Given the description of an element on the screen output the (x, y) to click on. 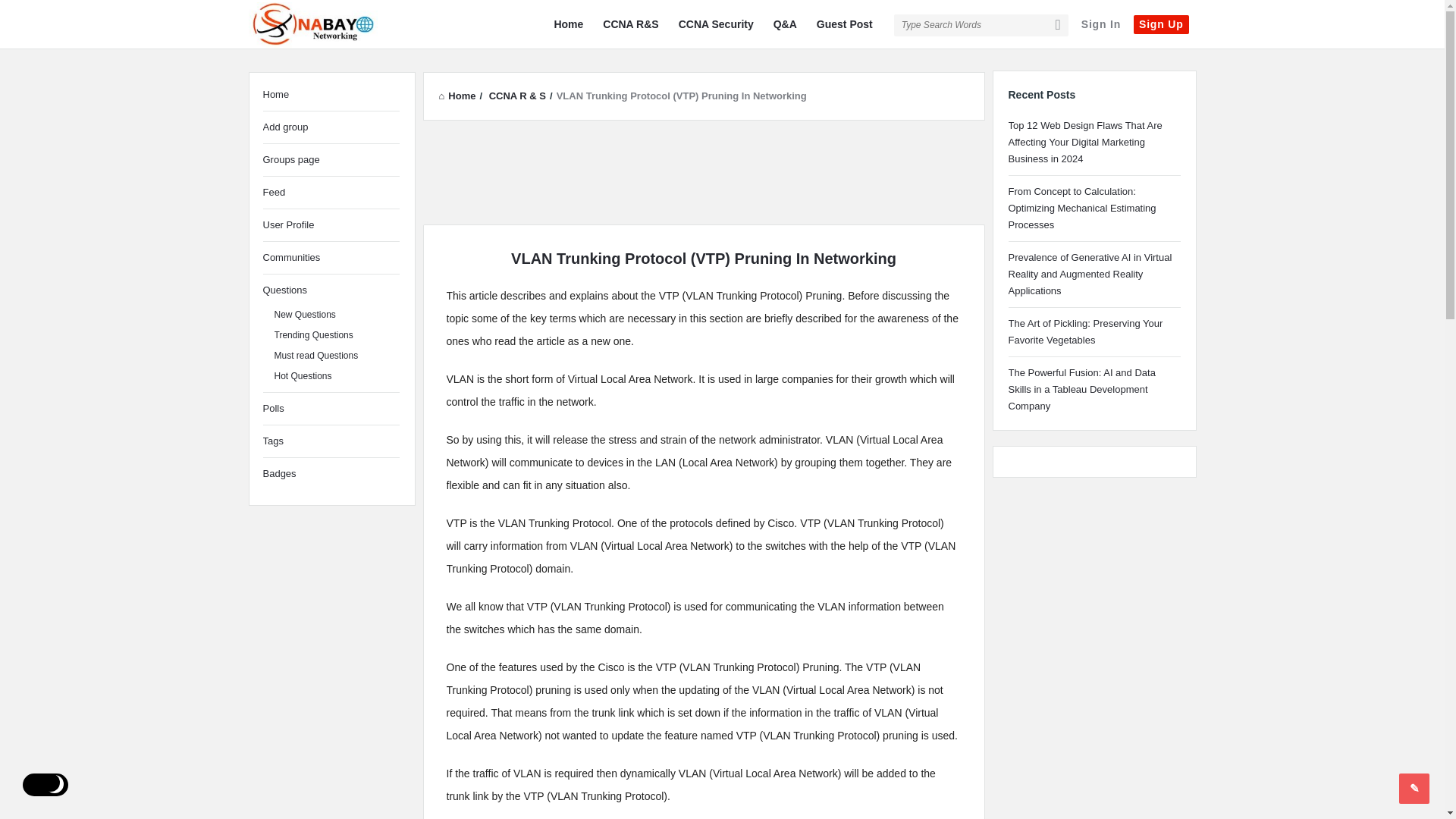
Sign Up (1161, 24)
CCNA Security (716, 24)
Advertisement (703, 169)
Snabay Networking (324, 24)
Sign In (1100, 24)
Snabay Networking (312, 25)
Guest Post (844, 24)
Home (457, 95)
Home (568, 24)
